Given the description of an element on the screen output the (x, y) to click on. 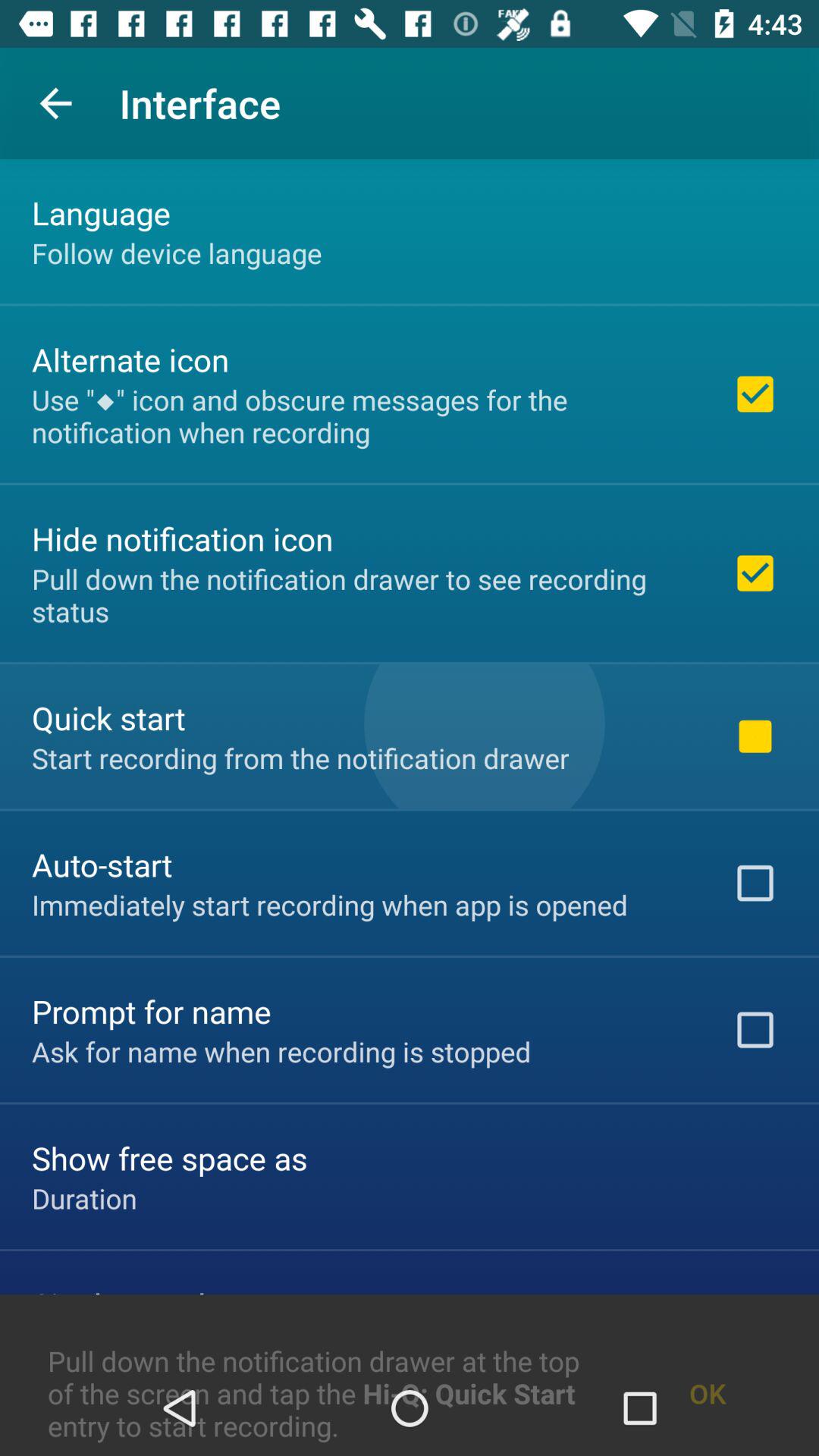
turn on item below start recording from item (101, 864)
